Given the description of an element on the screen output the (x, y) to click on. 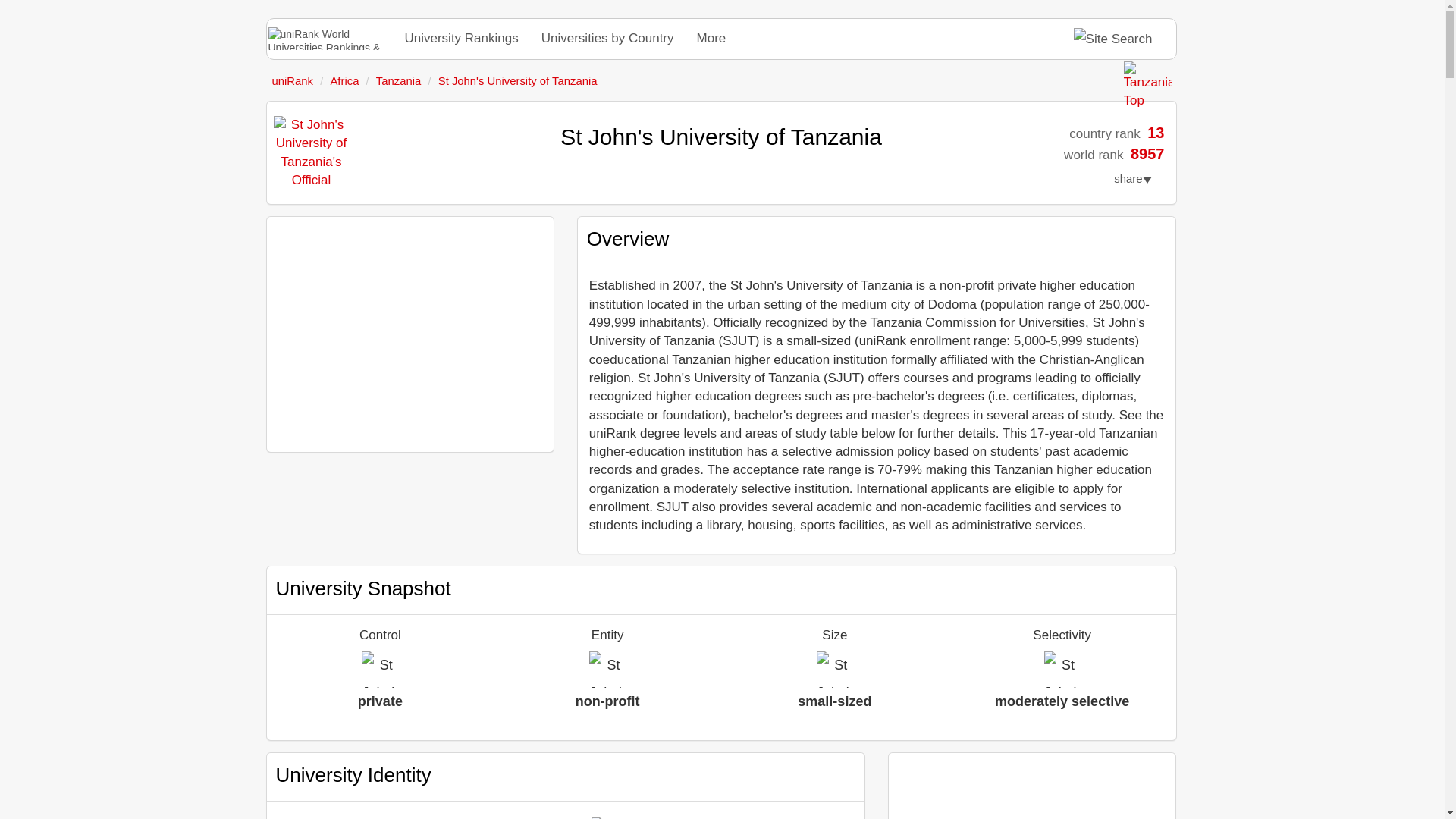
More (711, 38)
Universities by Country (607, 38)
University Rankings (461, 38)
